Given the description of an element on the screen output the (x, y) to click on. 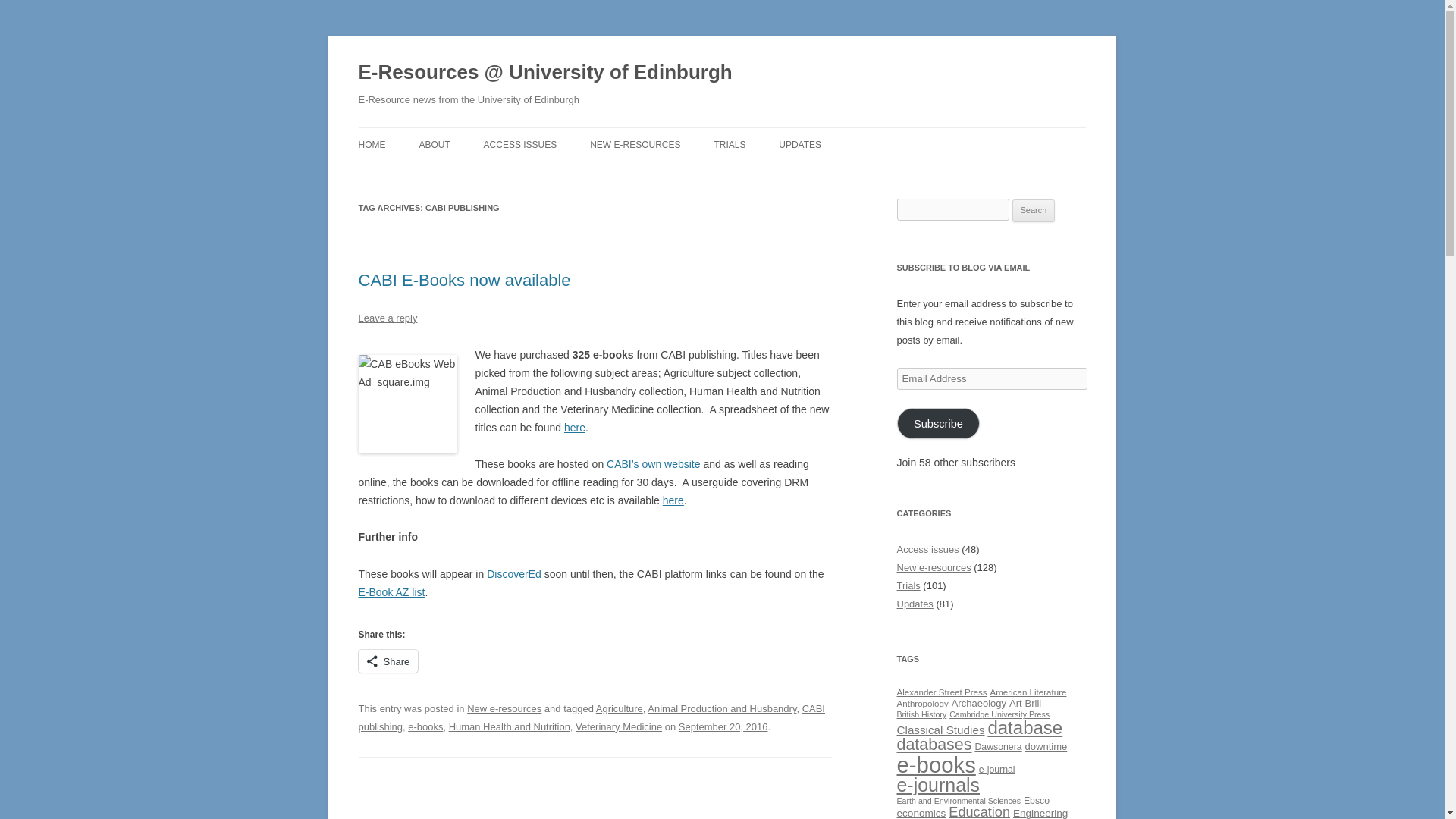
Animal Production and Husbandry (721, 708)
NEW E-RESOURCES (634, 144)
Search (1033, 210)
CABI publishing (591, 717)
E-Book AZ list (391, 592)
ABOUT (434, 144)
New e-resources (504, 708)
UPDATES (799, 144)
Leave a reply (387, 317)
Agriculture (619, 708)
